Given the description of an element on the screen output the (x, y) to click on. 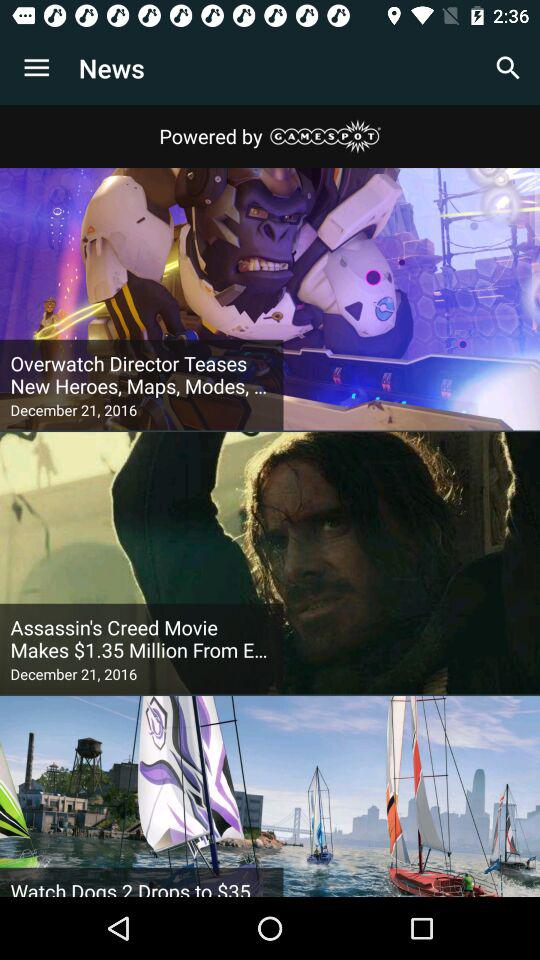
scroll to overwatch director teases (141, 375)
